Given the description of an element on the screen output the (x, y) to click on. 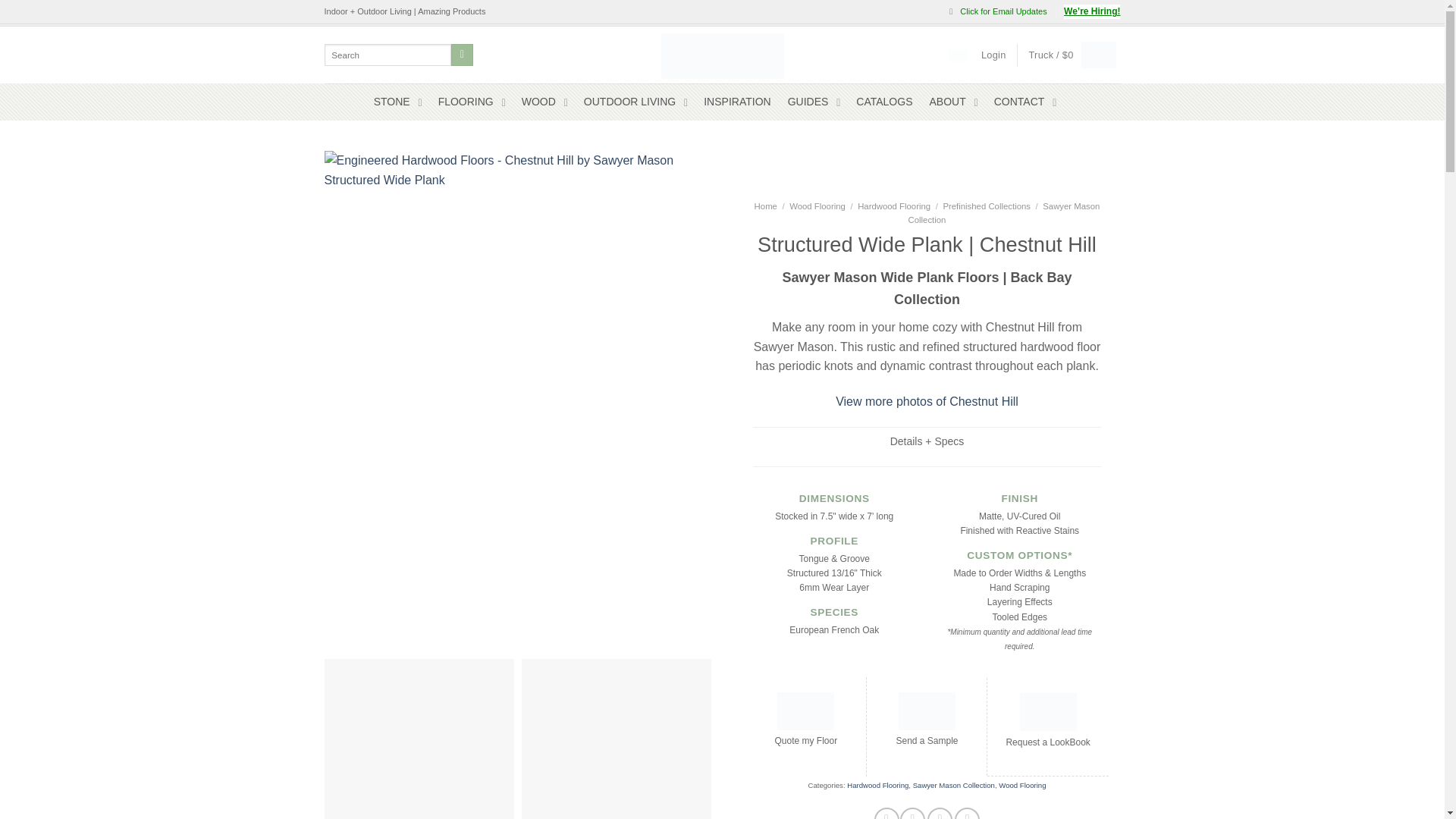
Truck (1067, 55)
Email to a Friend (939, 813)
Click for Email Updates (997, 11)
Login (993, 53)
Pin on Pinterest (967, 813)
Share on X (911, 813)
Login (993, 53)
STONE (397, 101)
Search (462, 55)
